Given the description of an element on the screen output the (x, y) to click on. 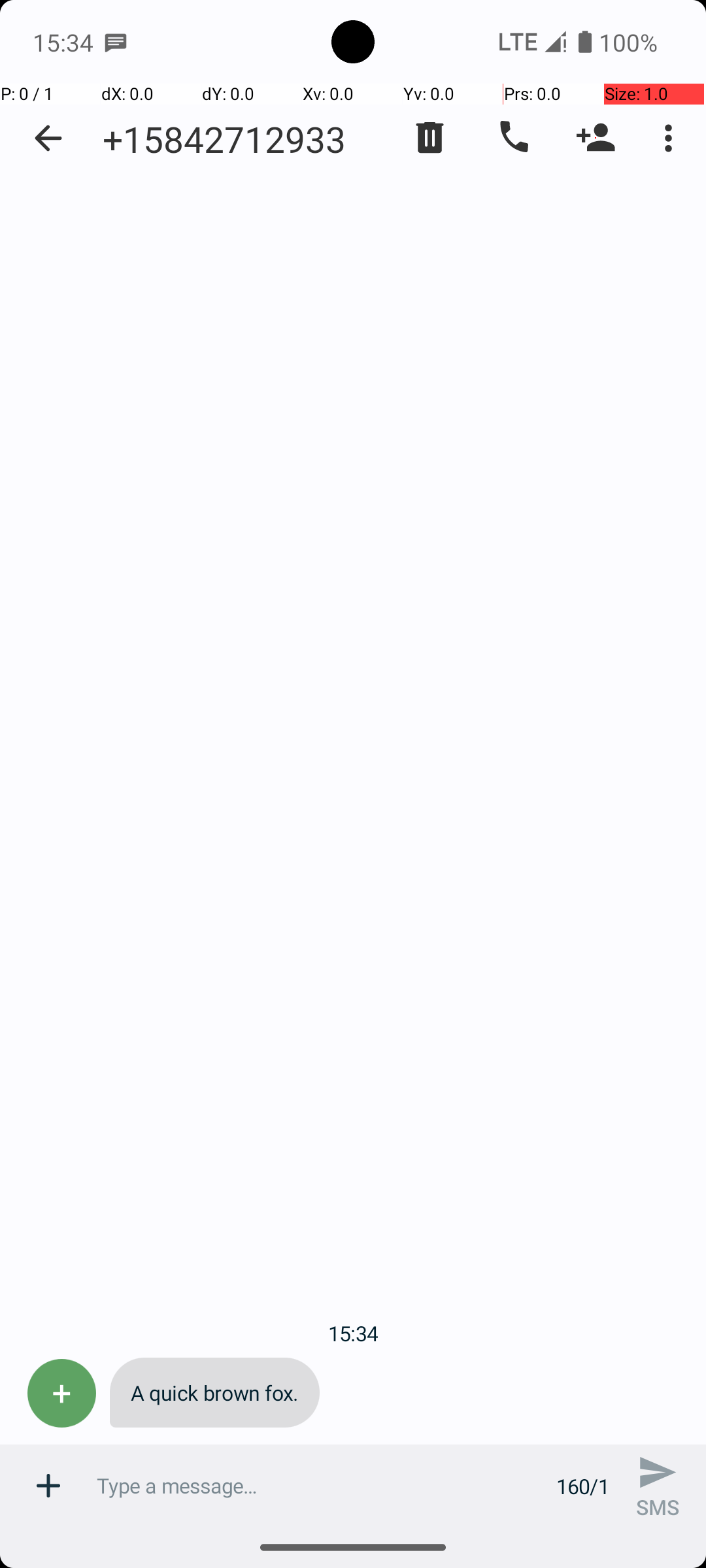
+15842712933 Element type: android.widget.TextView (223, 138)
160/1 Element type: android.widget.TextView (582, 1485)
A quick brown fox. Element type: android.widget.TextView (214, 1392)
